Given the description of an element on the screen output the (x, y) to click on. 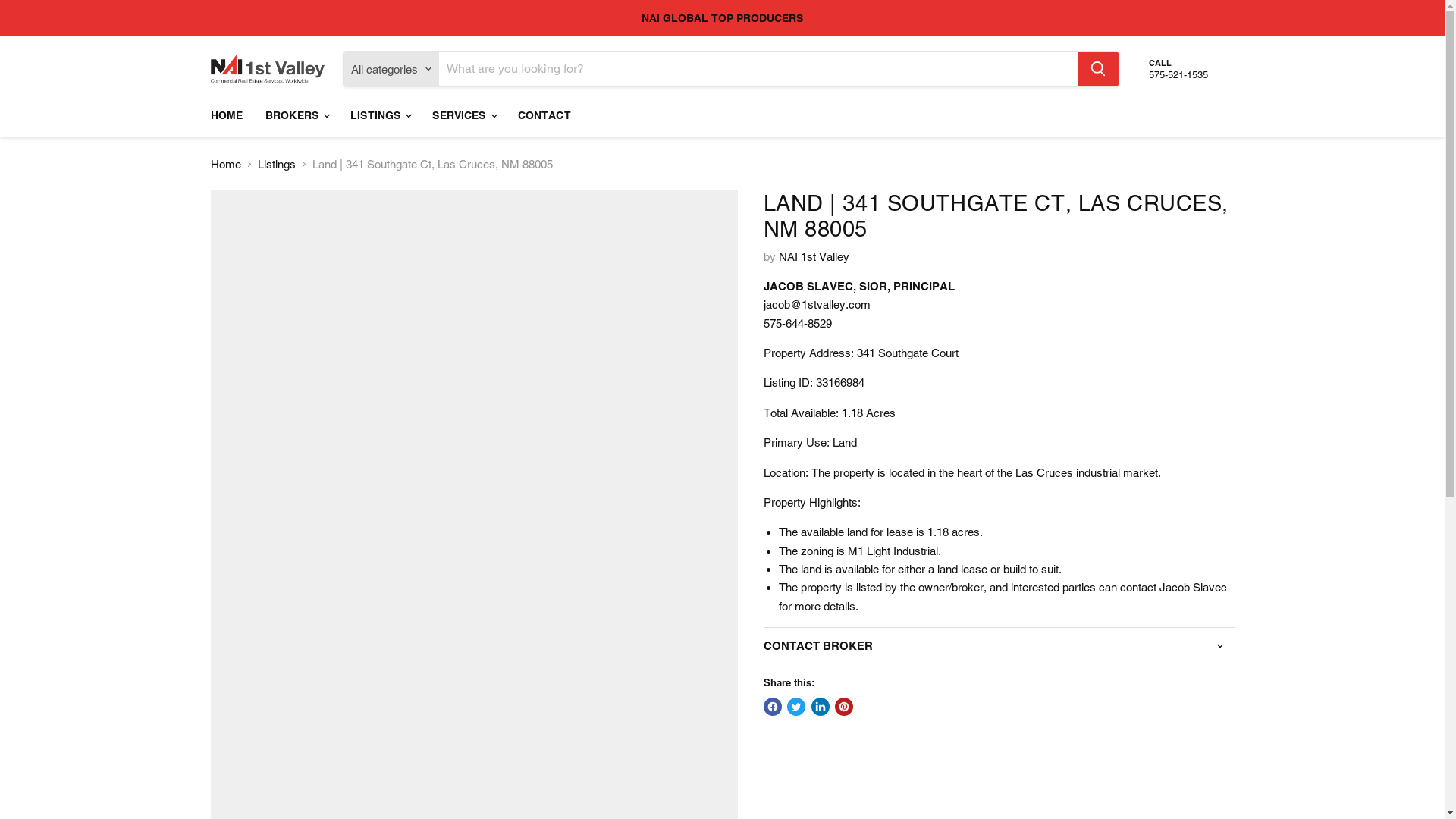
CONTACT Element type: text (544, 115)
575-644-8529 Element type: text (796, 322)
Home Element type: text (225, 163)
NAI 1st Valley Element type: text (813, 256)
Listings Element type: text (276, 163)
Pin on Pinterest Element type: text (843, 706)
Share on Facebook Element type: text (771, 706)
Tweet on Twitter Element type: text (796, 706)
jacob@1stvalley.com Element type: text (815, 304)
Share on LinkedIn Element type: text (820, 706)
View cart Element type: text (1211, 68)
HOME Element type: text (226, 115)
